Given the description of an element on the screen output the (x, y) to click on. 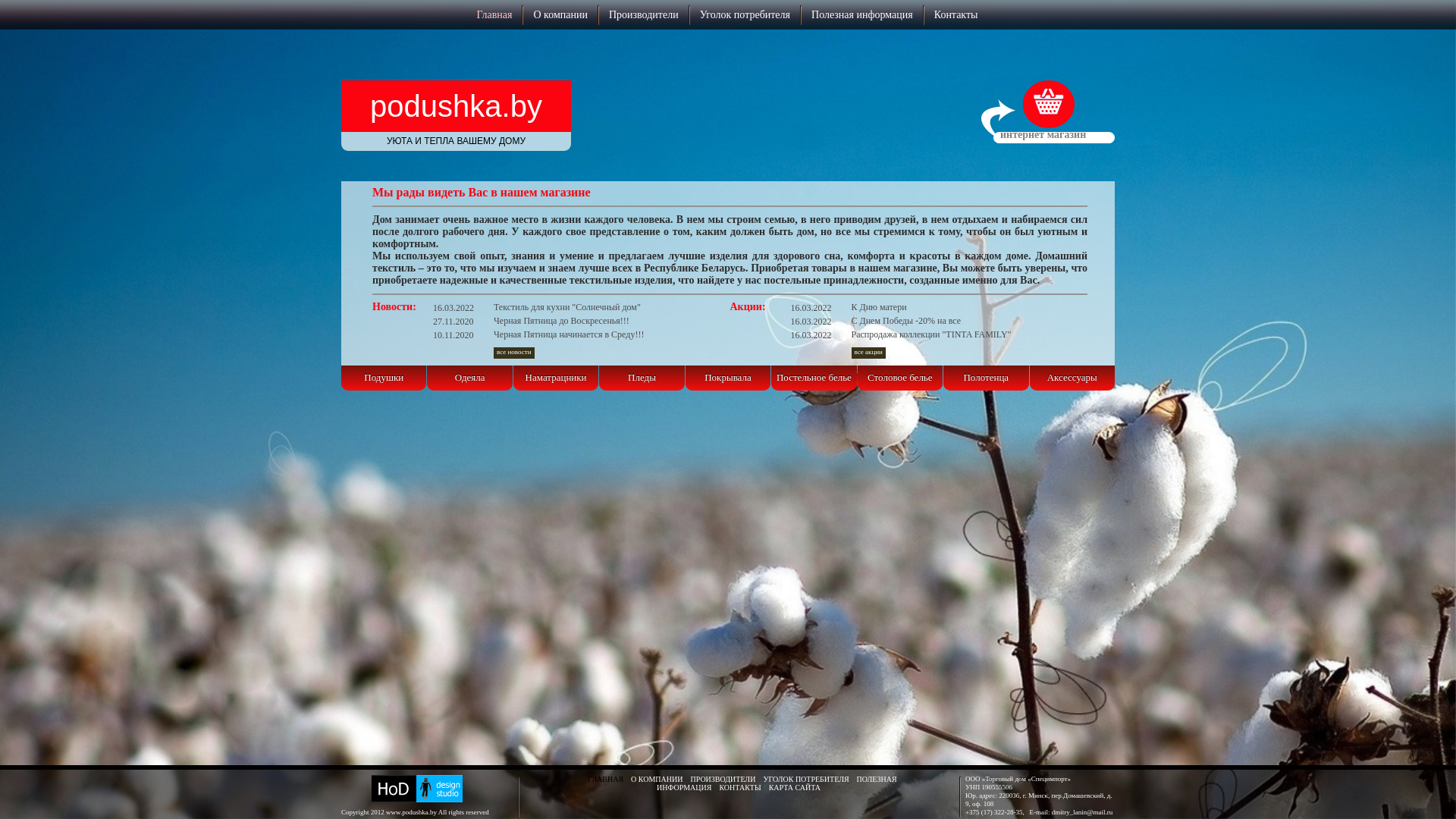
dmitry_lanin@mail.ru Element type: text (1082, 811)
